Given the description of an element on the screen output the (x, y) to click on. 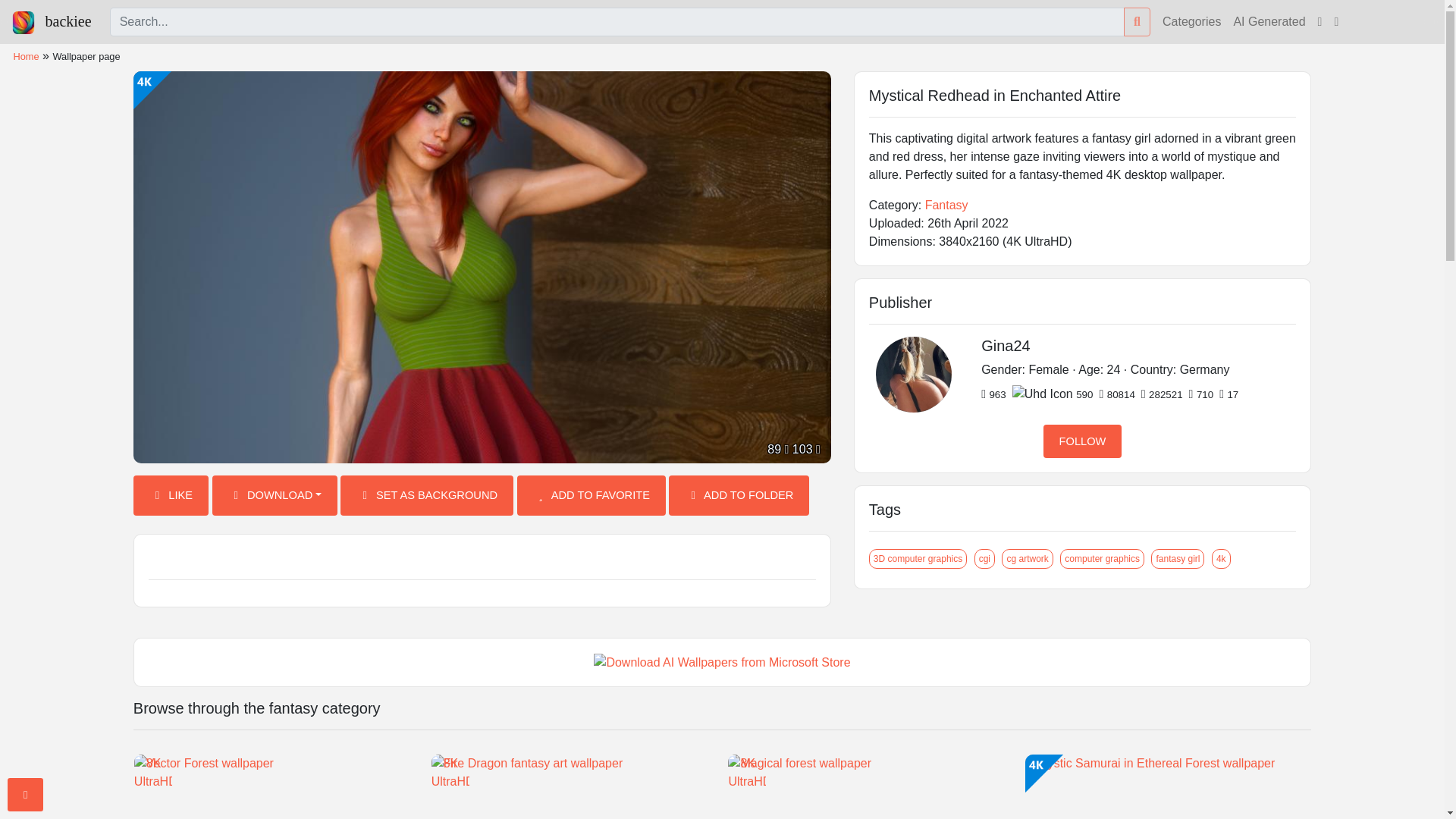
SET AS BACKGROUND (426, 495)
Home (26, 56)
Fantasy (946, 205)
LIKE (170, 495)
cg artwork (1026, 558)
ADD TO FAVORITE (590, 495)
computer graphics (1101, 558)
DOWNLOAD (274, 495)
AI Generated (1269, 21)
backiee (51, 21)
